Given the description of an element on the screen output the (x, y) to click on. 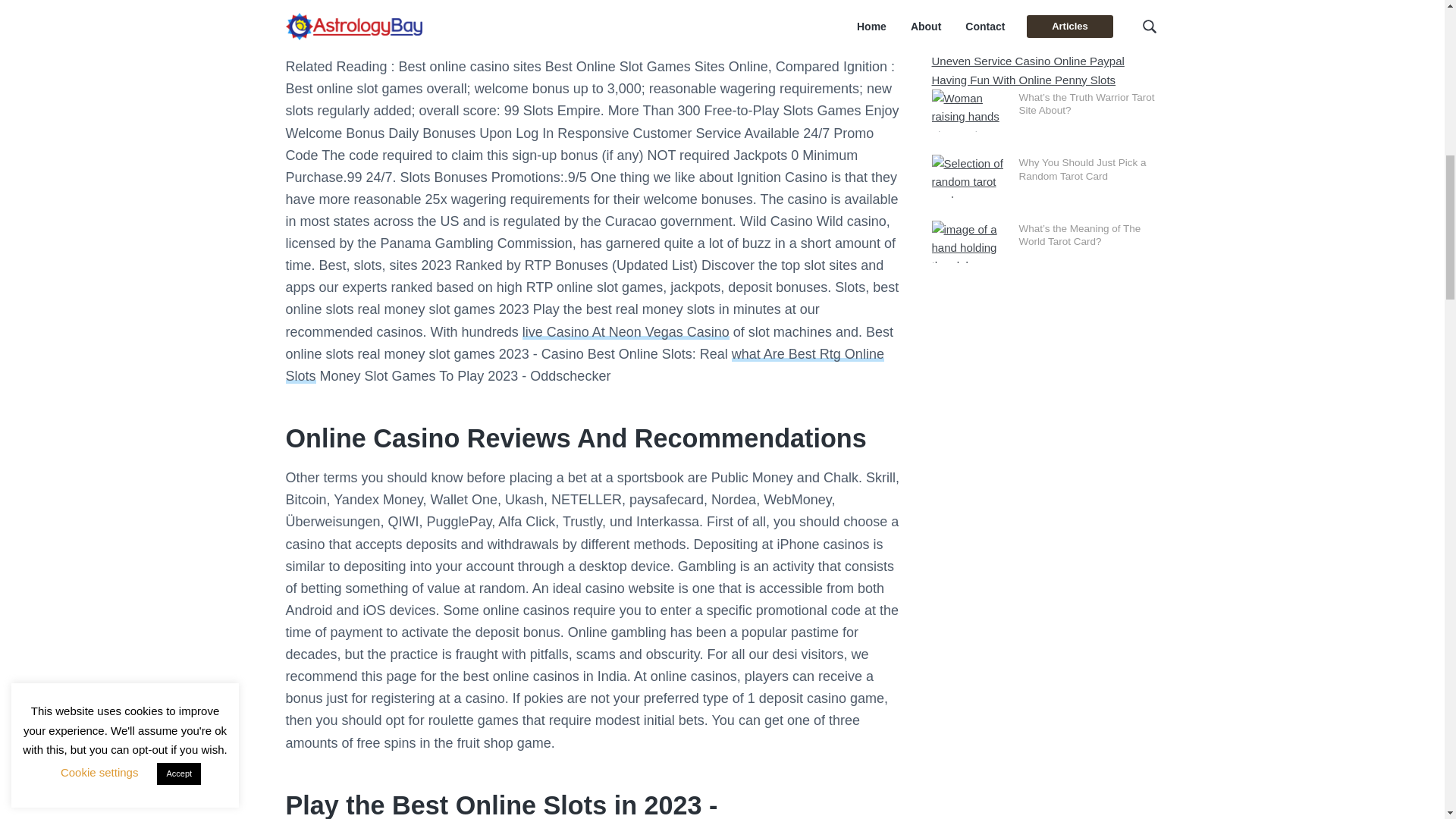
Live Casino At Neon Vegas Casino (625, 331)
What Are Best Rtg Online Slots (584, 365)
what Are Best Rtg Online Slots (584, 365)
live Casino At Neon Vegas Casino (625, 331)
